Given the description of an element on the screen output the (x, y) to click on. 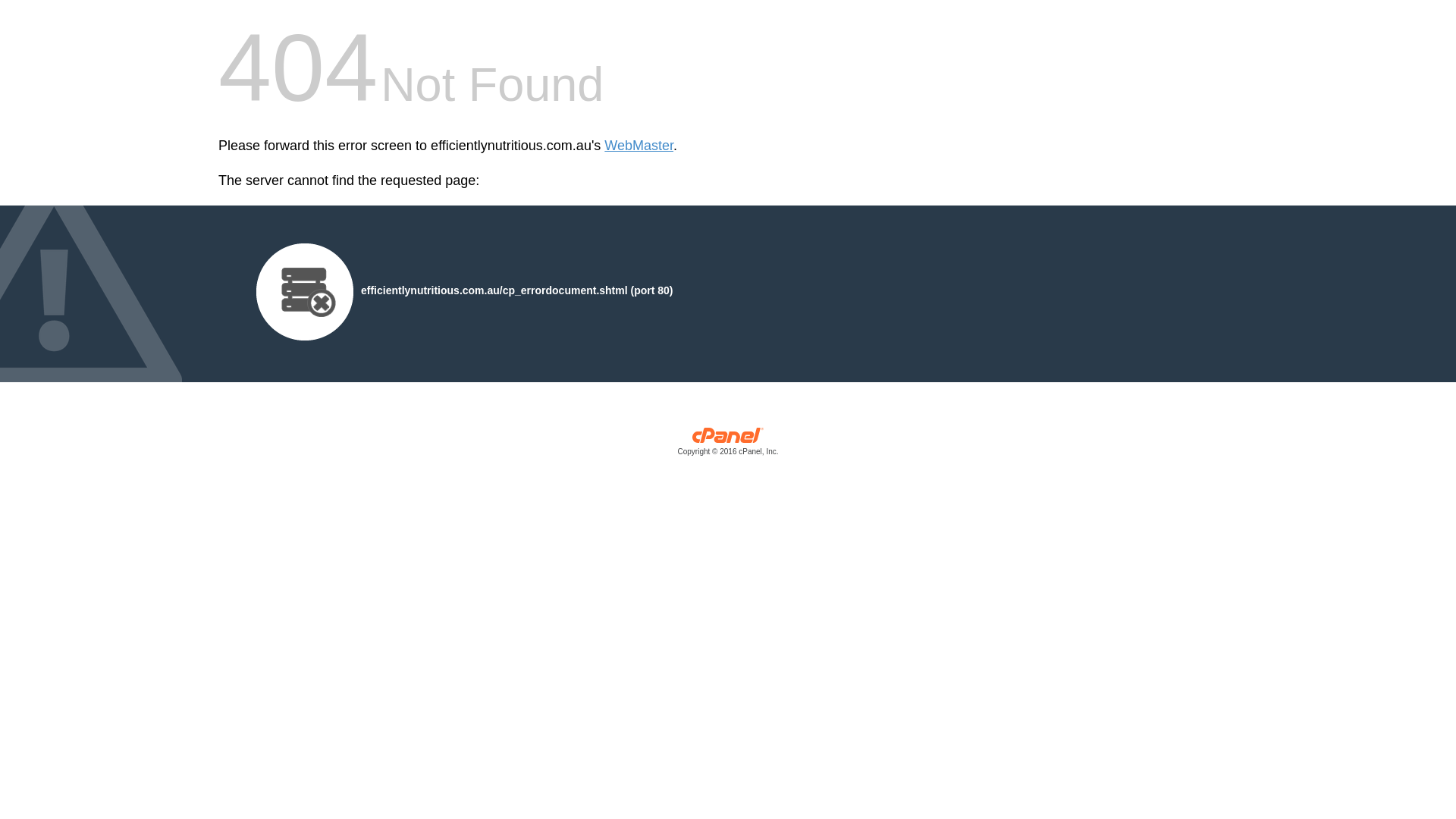
WebMaster Element type: text (638, 145)
